Given the description of an element on the screen output the (x, y) to click on. 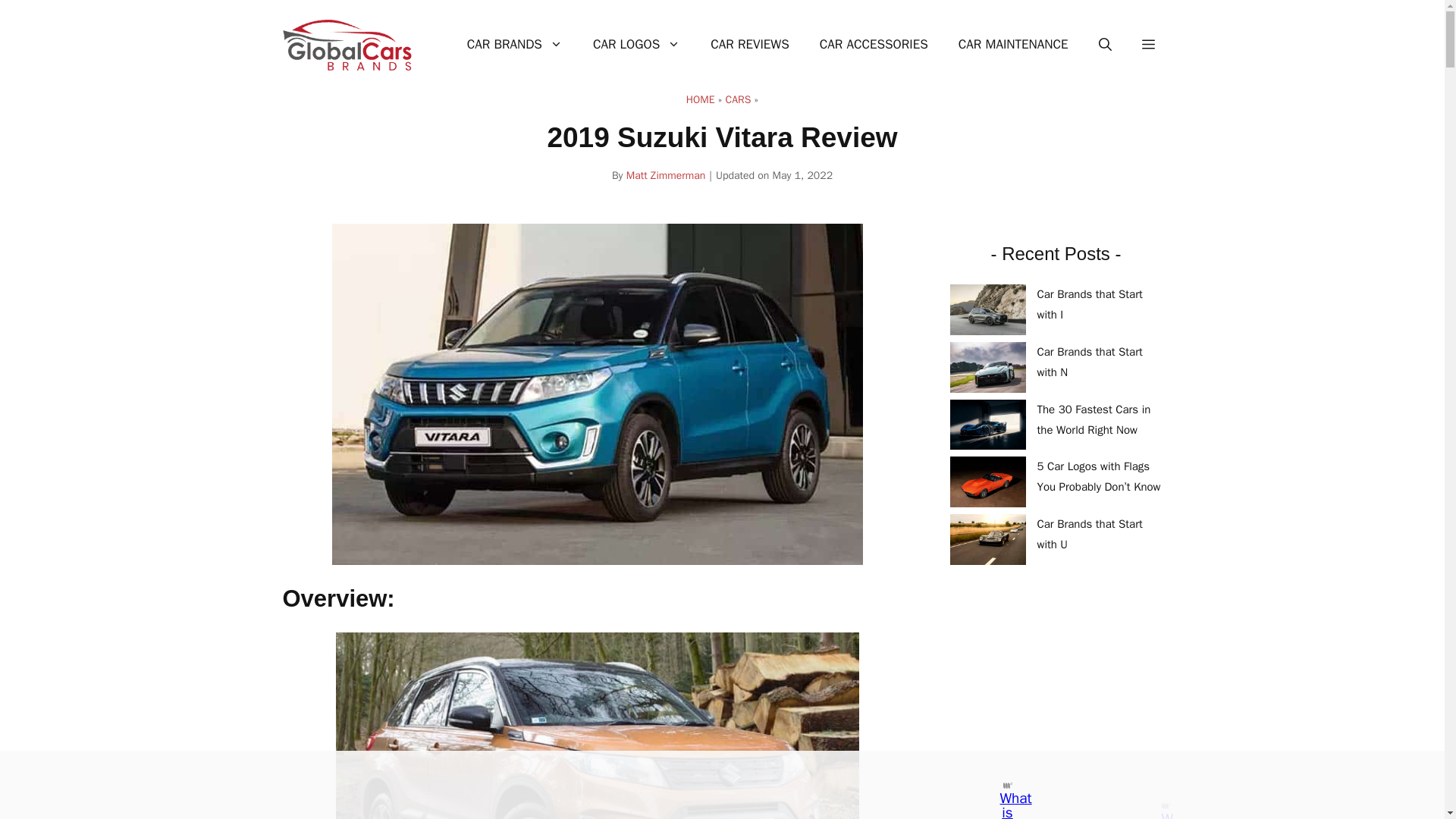
CAR REVIEWS (750, 44)
CAR BRANDS (514, 44)
CAR MAINTENANCE (1013, 44)
CAR ACCESSORIES (874, 44)
3rd party ad content (1062, 702)
CAR LOGOS (636, 44)
3rd party ad content (708, 785)
